Given the description of an element on the screen output the (x, y) to click on. 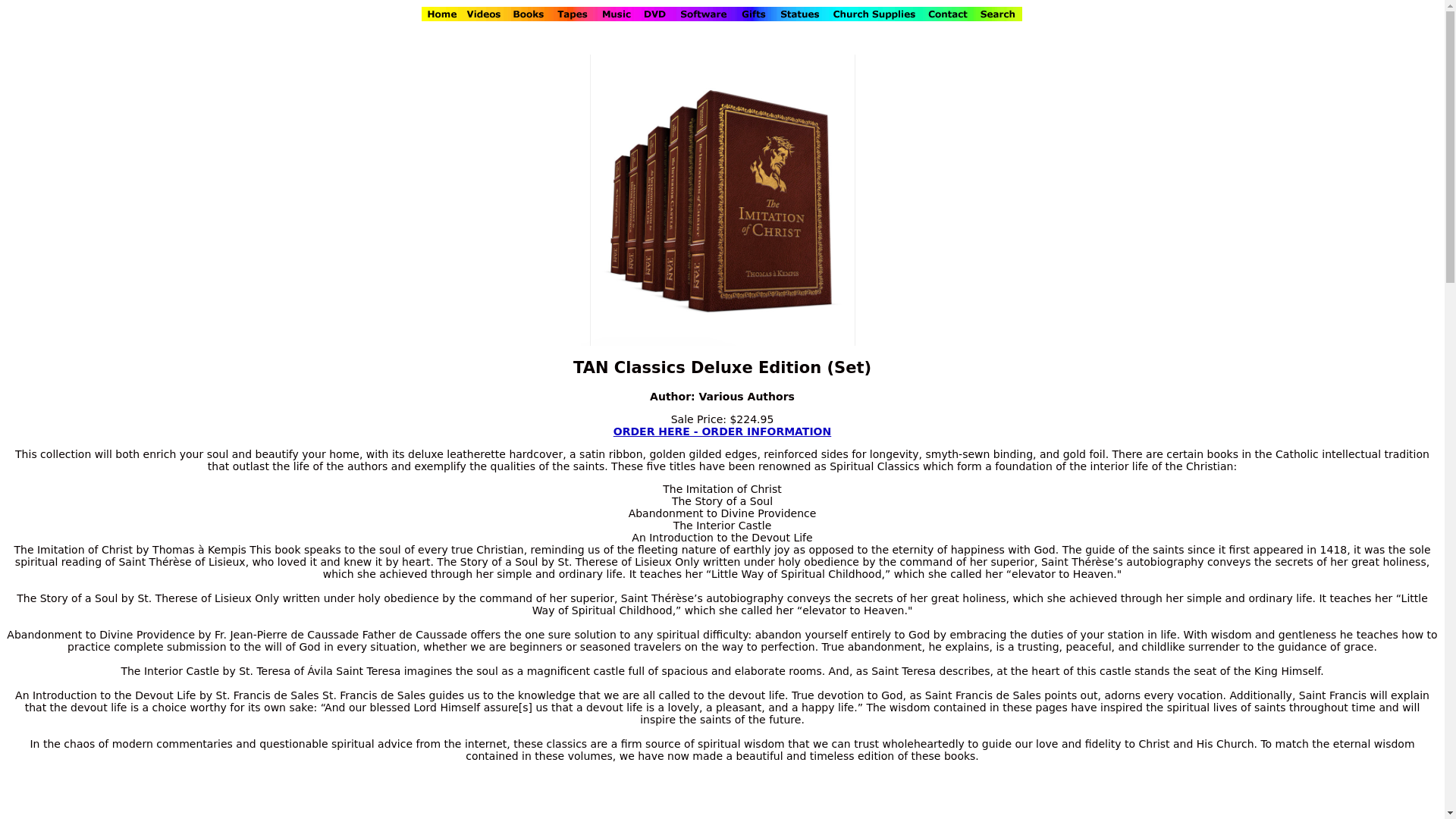
ORDER HERE - ORDER INFORMATION (721, 431)
